Given the description of an element on the screen output the (x, y) to click on. 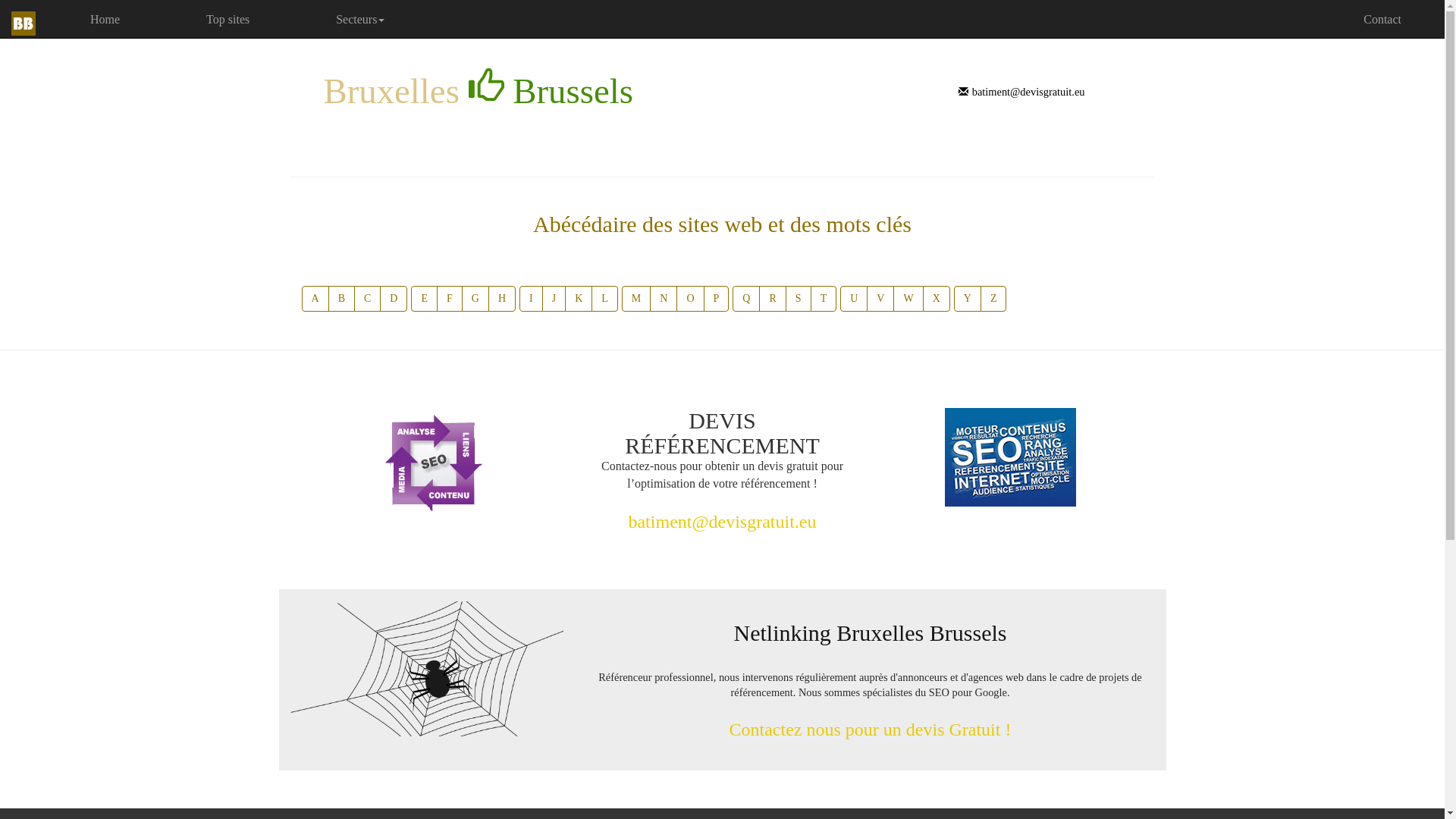
B Element type: text (341, 298)
T Element type: text (823, 298)
D Element type: text (393, 298)
Bruxelles Brussels Element type: text (477, 89)
I Element type: text (530, 298)
P Element type: text (716, 298)
A Element type: text (315, 298)
Contact Element type: text (1382, 13)
M Element type: text (635, 298)
G Element type: text (475, 298)
C Element type: text (367, 298)
J Element type: text (553, 298)
Backlink Bruxelles Element type: hover (425, 668)
V Element type: text (880, 298)
O Element type: text (689, 298)
L Element type: text (604, 298)
W Element type: text (907, 298)
Referencement naturel Bruxelles Element type: hover (433, 463)
U Element type: text (853, 298)
F Element type: text (449, 298)
Y Element type: text (967, 298)
batiment@devisgratuit.eu Element type: text (721, 521)
A domicile Element type: hover (23, 23)
R Element type: text (772, 298)
X Element type: text (936, 298)
H Element type: text (501, 298)
Top sites Element type: text (227, 13)
N Element type: text (663, 298)
Q Element type: text (745, 298)
Referencement naturel Bruxelles Element type: hover (1010, 456)
K Element type: text (578, 298)
E Element type: text (424, 298)
S Element type: text (798, 298)
Secteurs Element type: text (359, 13)
Home
(current) Element type: text (105, 13)
batiment@devisgratuit.eu Element type: text (1021, 91)
Z Element type: text (993, 298)
